Given the description of an element on the screen output the (x, y) to click on. 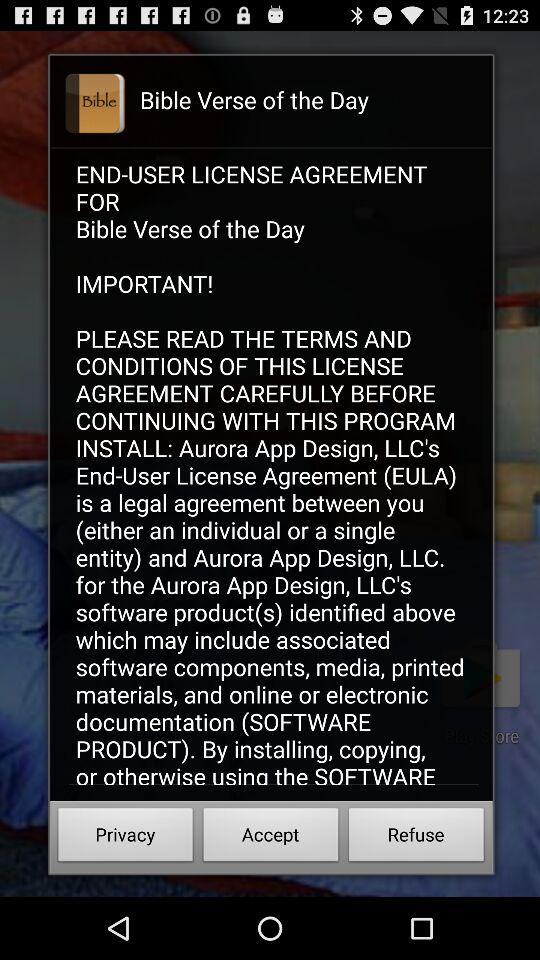
choose accept icon (270, 837)
